Given the description of an element on the screen output the (x, y) to click on. 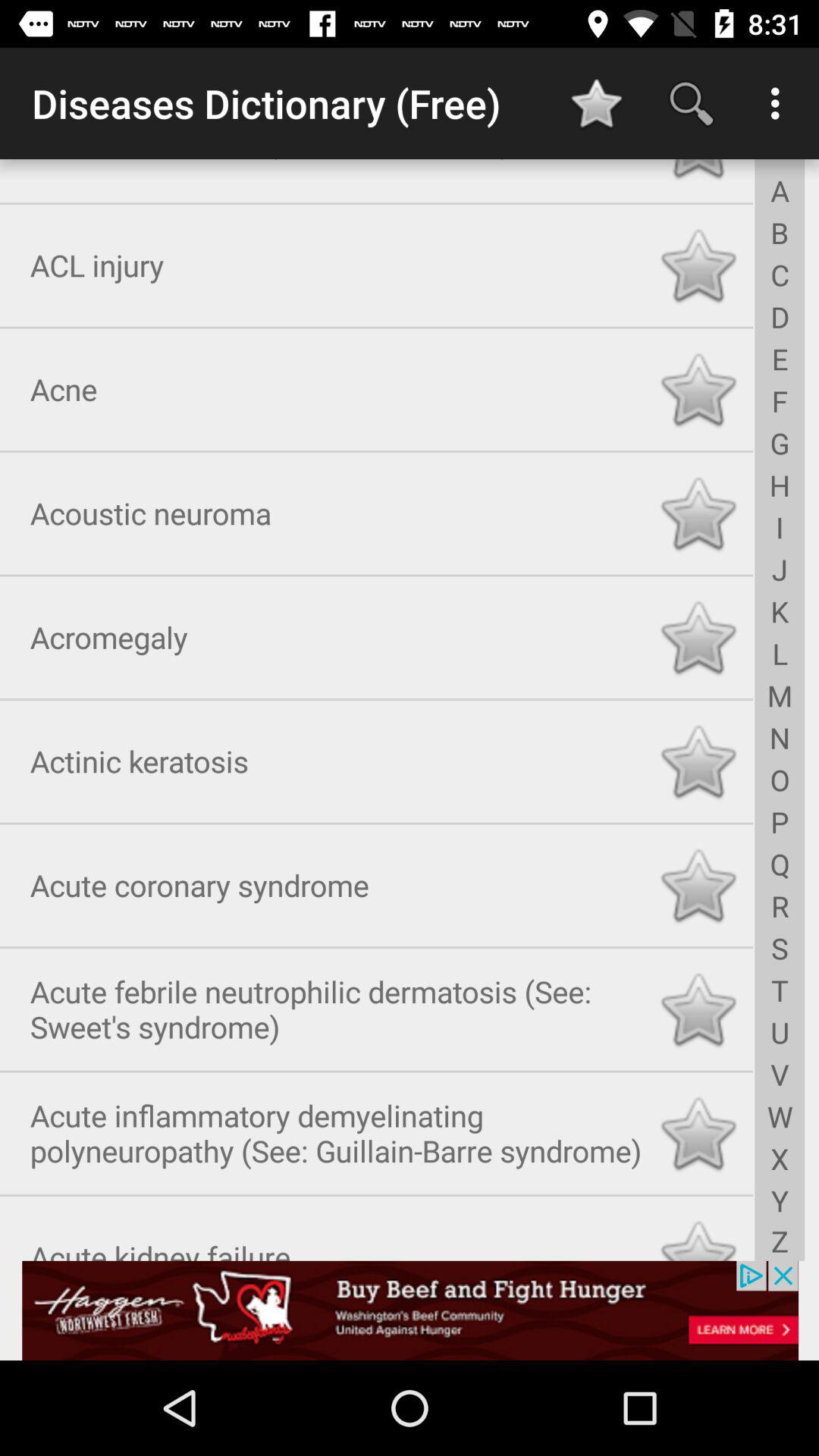
highlight option (697, 1130)
